Given the description of an element on the screen output the (x, y) to click on. 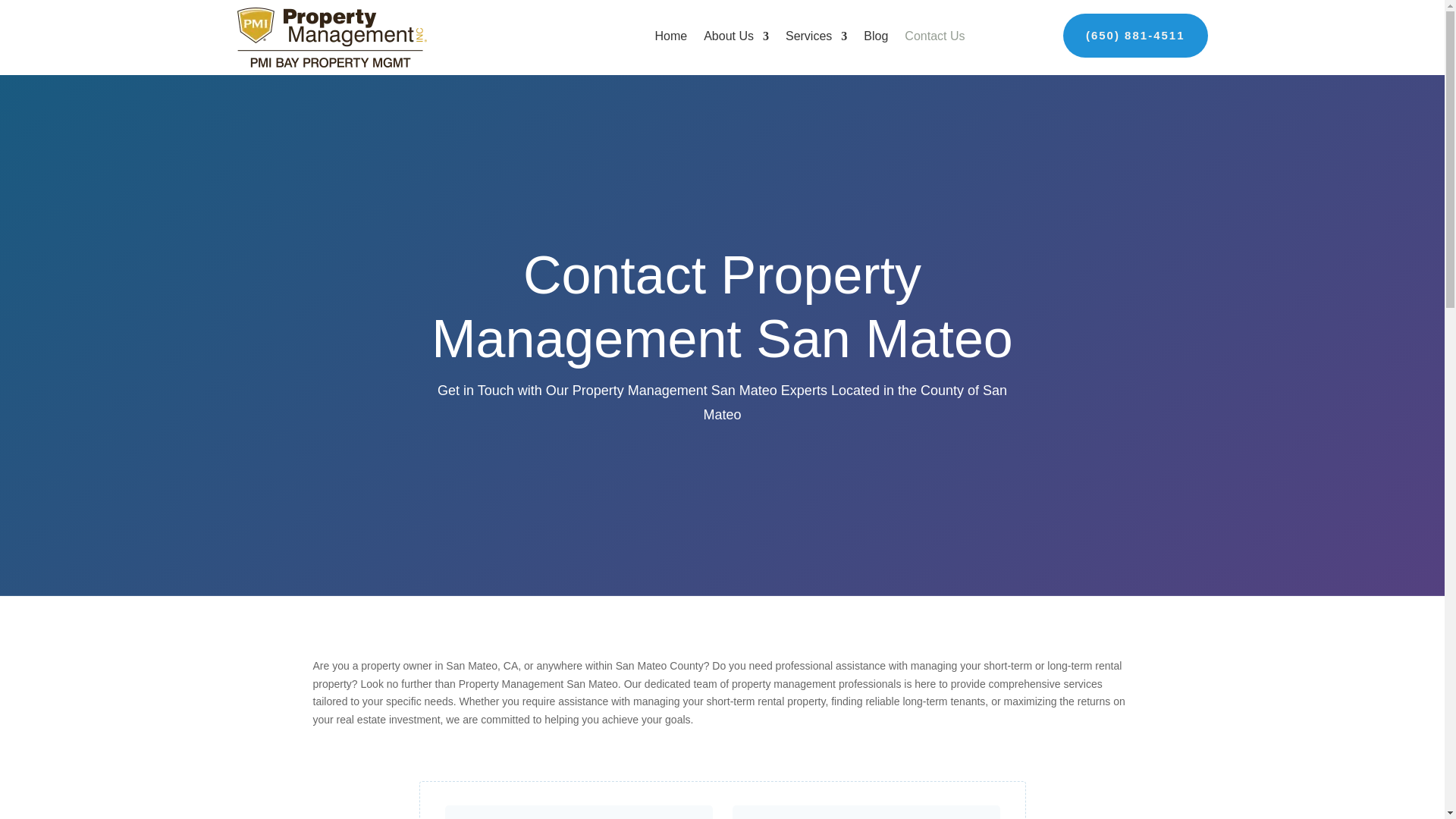
Blog (875, 36)
Contact Us (933, 36)
San Mateo County Property Management (330, 37)
About Us (735, 36)
Services (816, 36)
Property Management San Mateo (722, 779)
Home (670, 36)
